Given the description of an element on the screen output the (x, y) to click on. 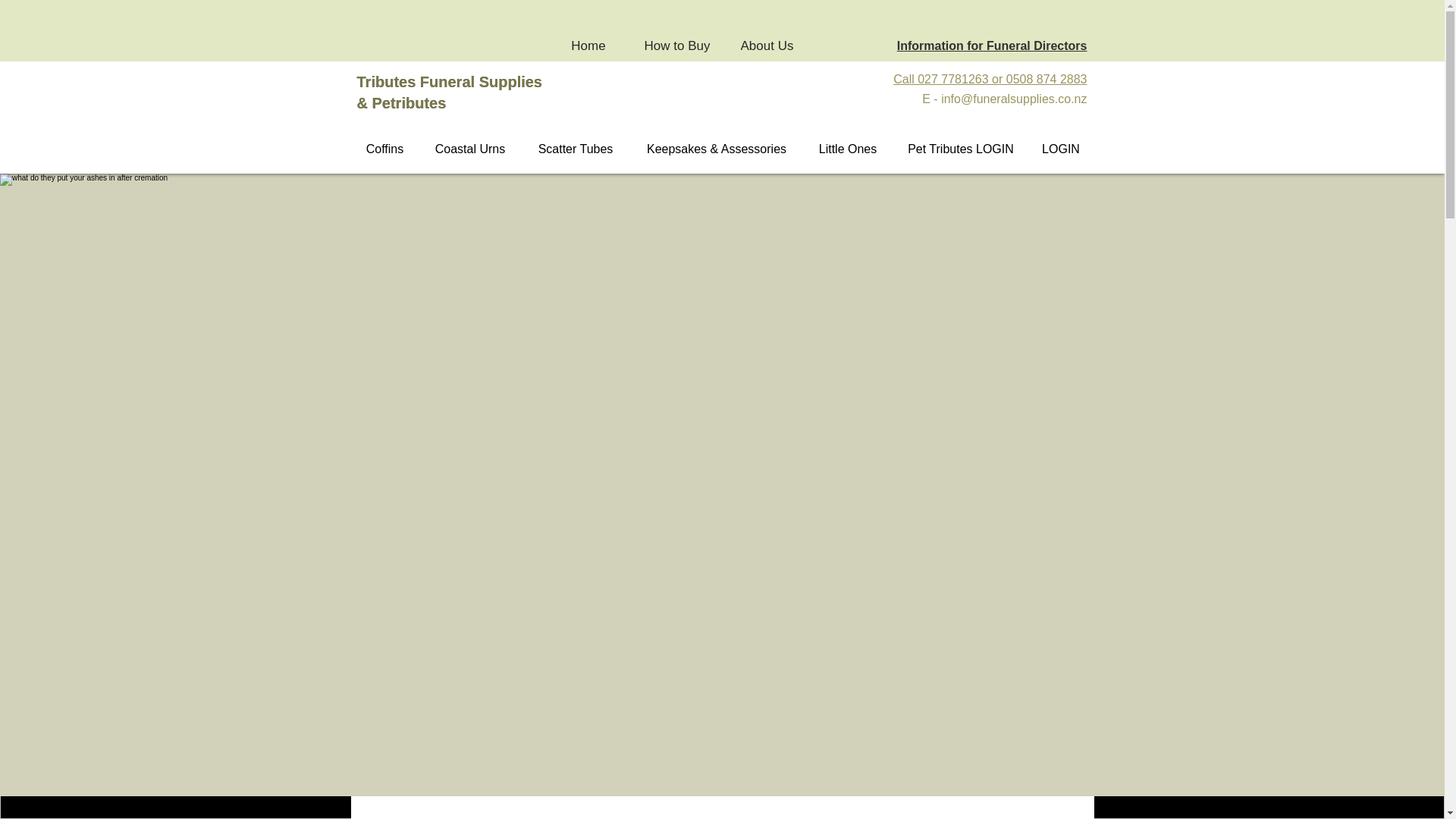
LOGIN (1060, 148)
Coffins (385, 148)
Little Ones (847, 148)
Pet Tributes LOGIN (961, 148)
Call 027 7781263 or 0508 874 2883 (989, 78)
How to Buy (677, 46)
Coastal Urns (470, 148)
Information for Funeral Directors (991, 45)
Home (588, 46)
About Us (767, 46)
